Given the description of an element on the screen output the (x, y) to click on. 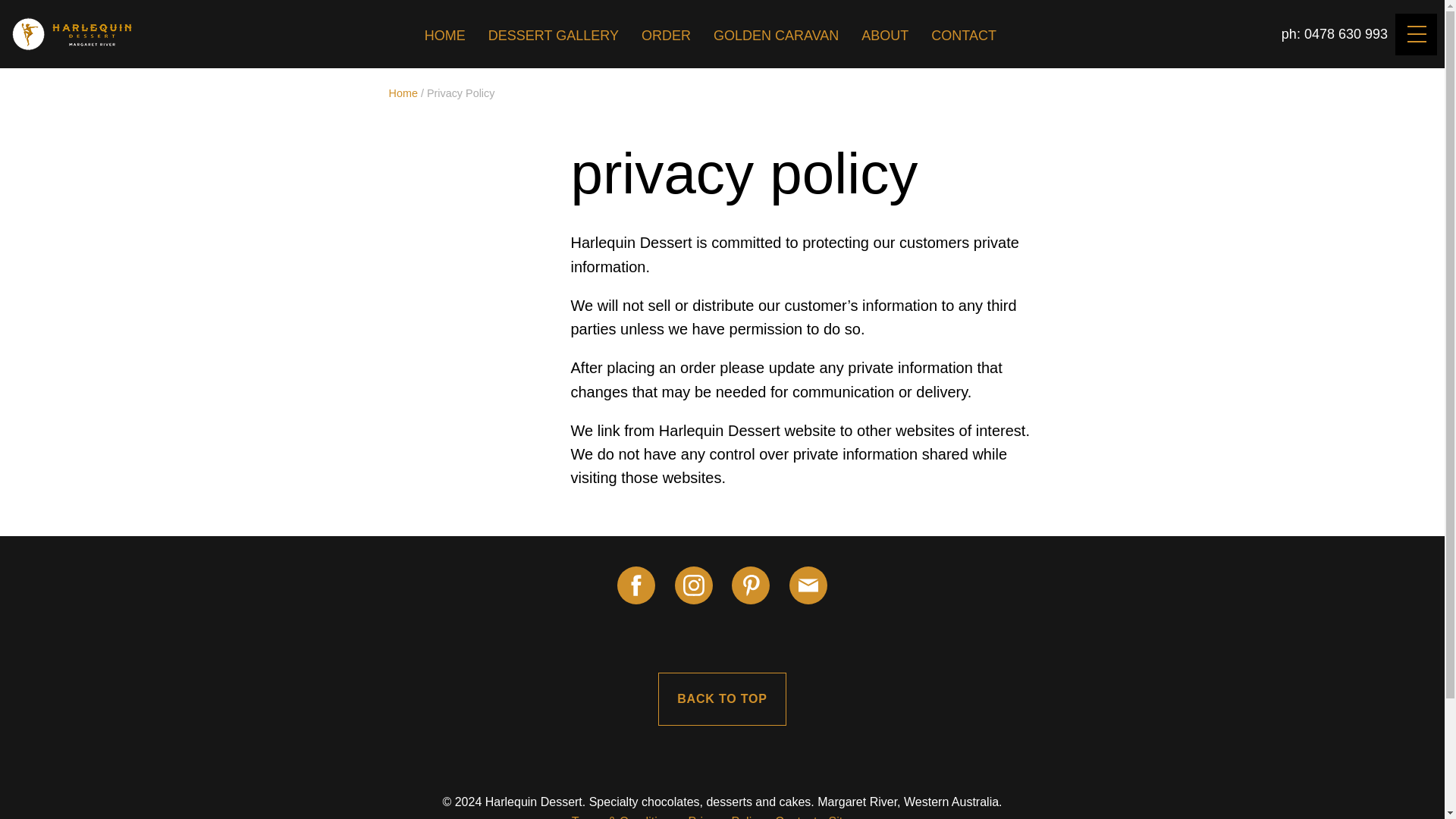
Menu (1415, 34)
ABOUT (884, 35)
CONTACT (963, 35)
Email (808, 585)
Home (402, 92)
Contact (795, 816)
BACK TO TOP (722, 698)
Pinterest (751, 585)
HOME (444, 35)
ORDER (665, 35)
